Given the description of an element on the screen output the (x, y) to click on. 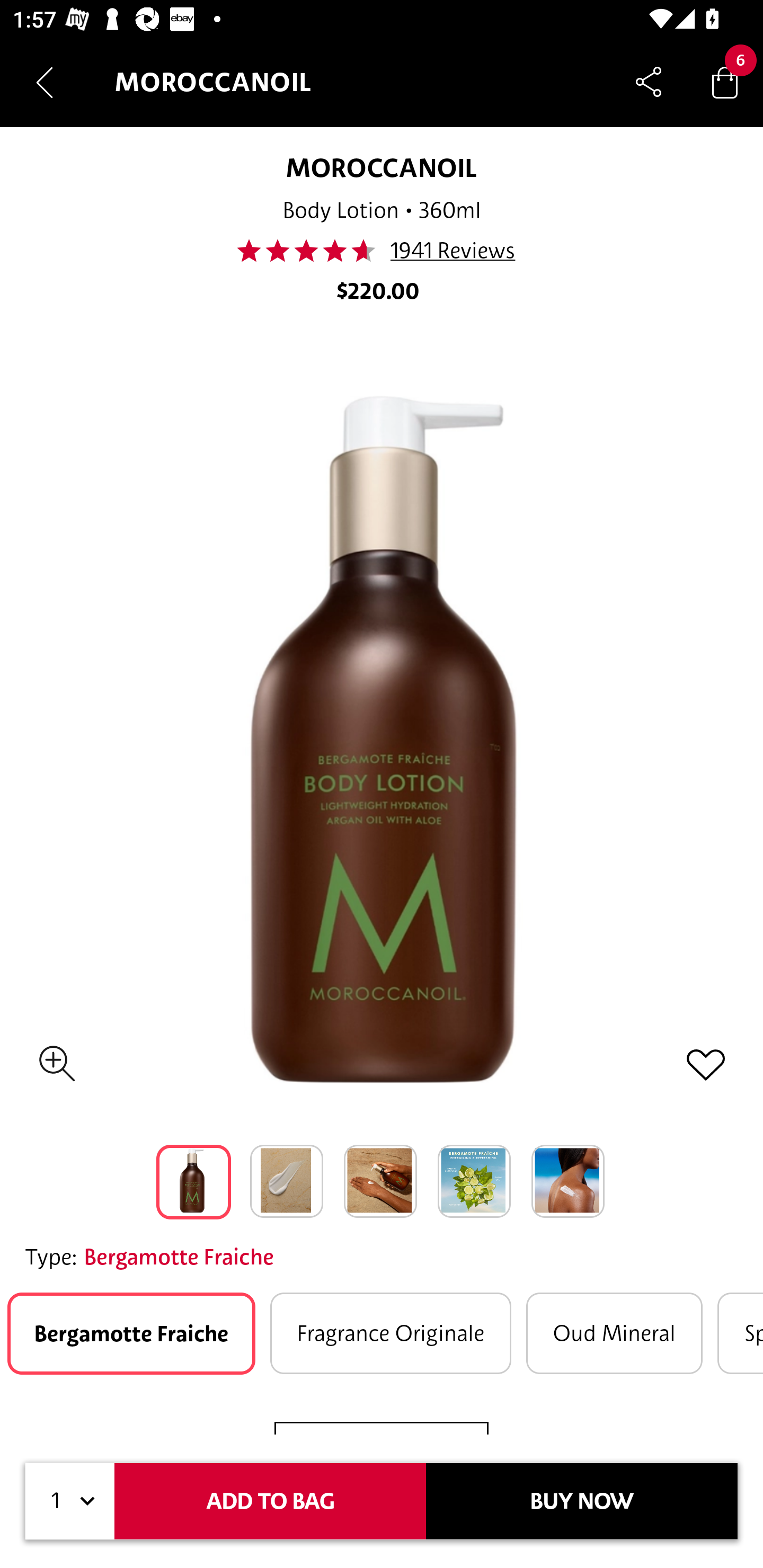
Navigate up (44, 82)
Share (648, 81)
Bag (724, 81)
MOROCCANOIL (381, 167)
46.0 1941 Reviews (381, 250)
Bergamotte Fraiche (131, 1333)
Fragrance Originale (390, 1332)
Oud Mineral (614, 1332)
1 (69, 1500)
ADD TO BAG (269, 1500)
BUY NOW (581, 1500)
